Given the description of an element on the screen output the (x, y) to click on. 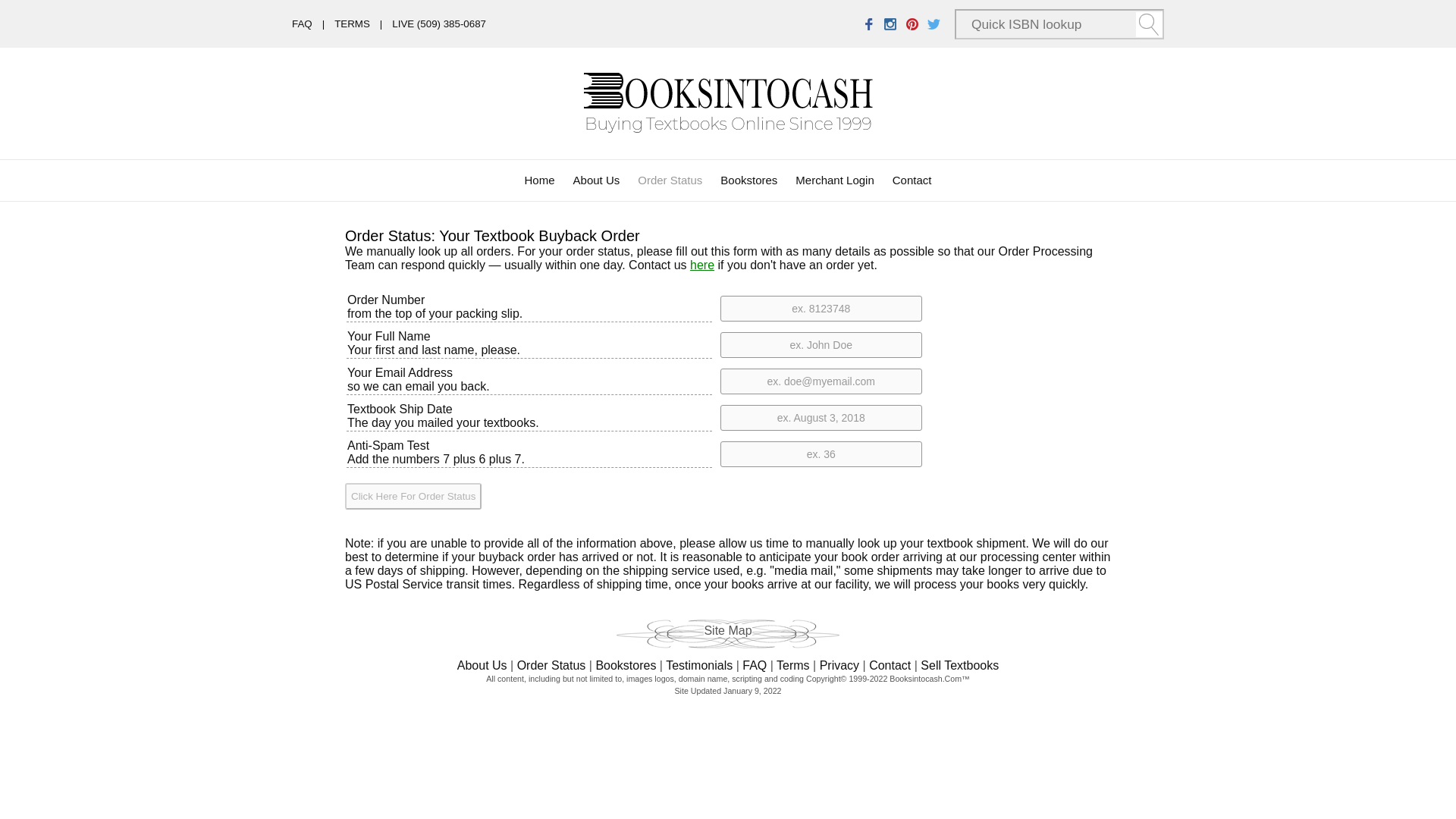
Terms (792, 665)
Click Here For Order Status (413, 496)
Click Here For Order Status (413, 496)
About Us (481, 665)
Home (539, 179)
TERMS (351, 23)
Bookstores (748, 179)
Order Status (551, 665)
Testimonials (698, 665)
here (702, 264)
Bookstores (625, 665)
FAQ (302, 23)
FAQ (754, 665)
About Us (596, 179)
Privacy (839, 665)
